Given the description of an element on the screen output the (x, y) to click on. 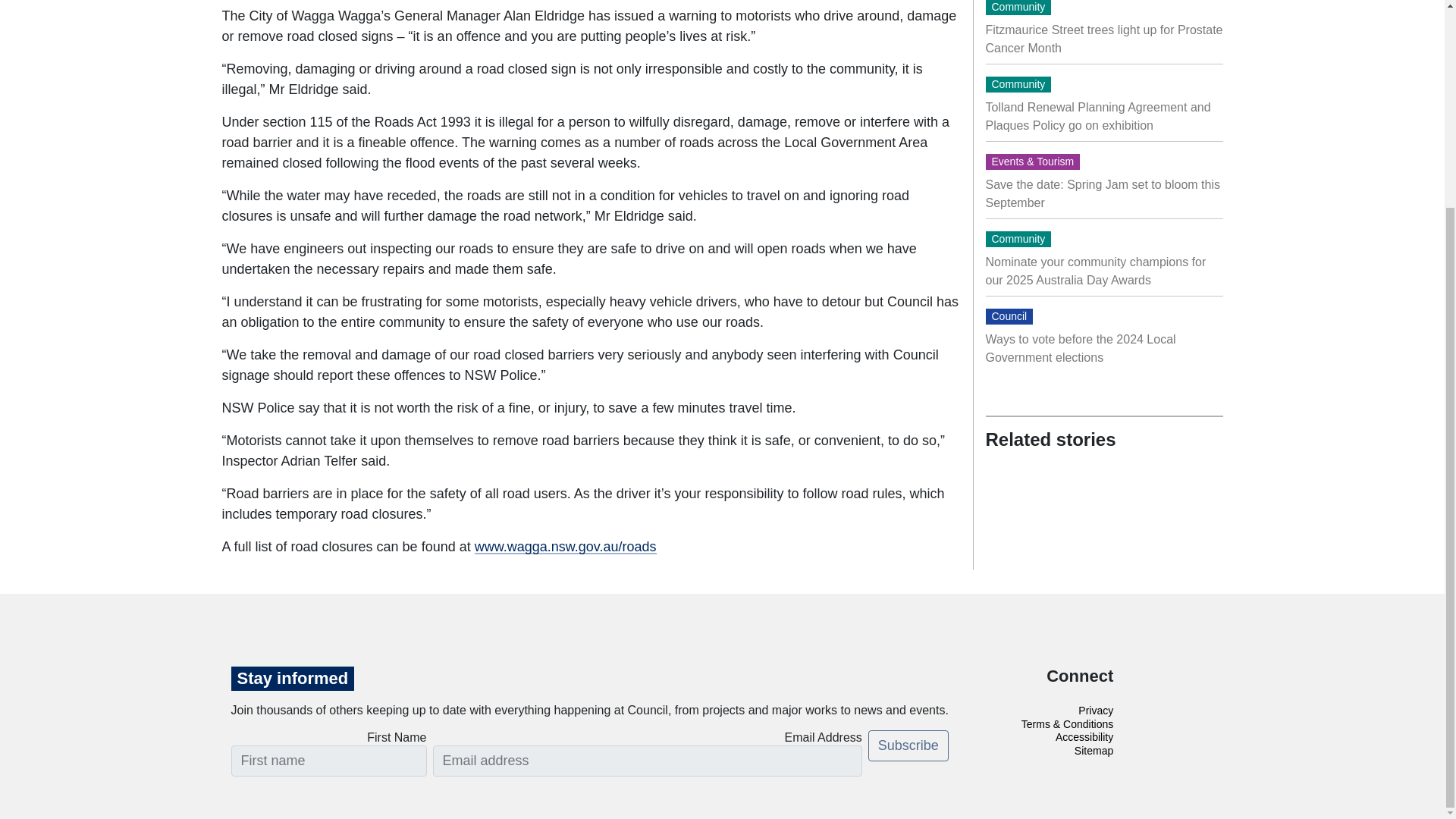
Fitzmaurice Street trees light up for Prostate Cancer Month (1104, 38)
Subscribe (908, 745)
